Given the description of an element on the screen output the (x, y) to click on. 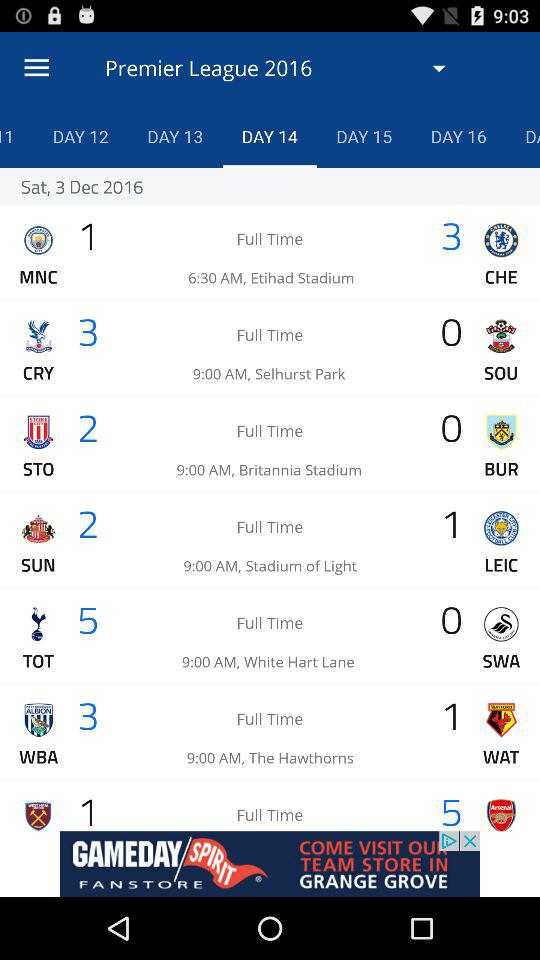
opens a advertisement (270, 864)
